Given the description of an element on the screen output the (x, y) to click on. 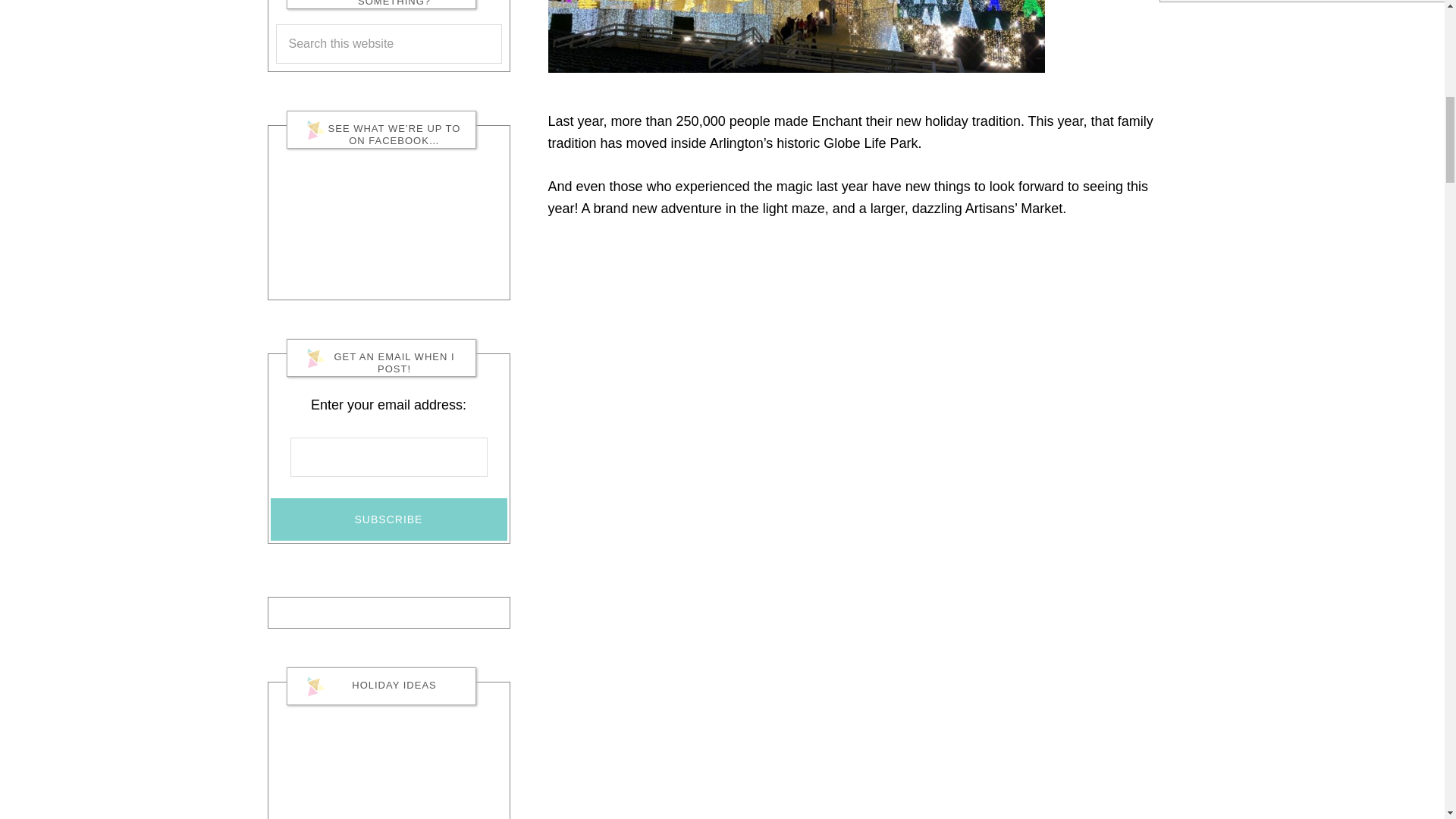
Subscribe (387, 518)
